Given the description of an element on the screen output the (x, y) to click on. 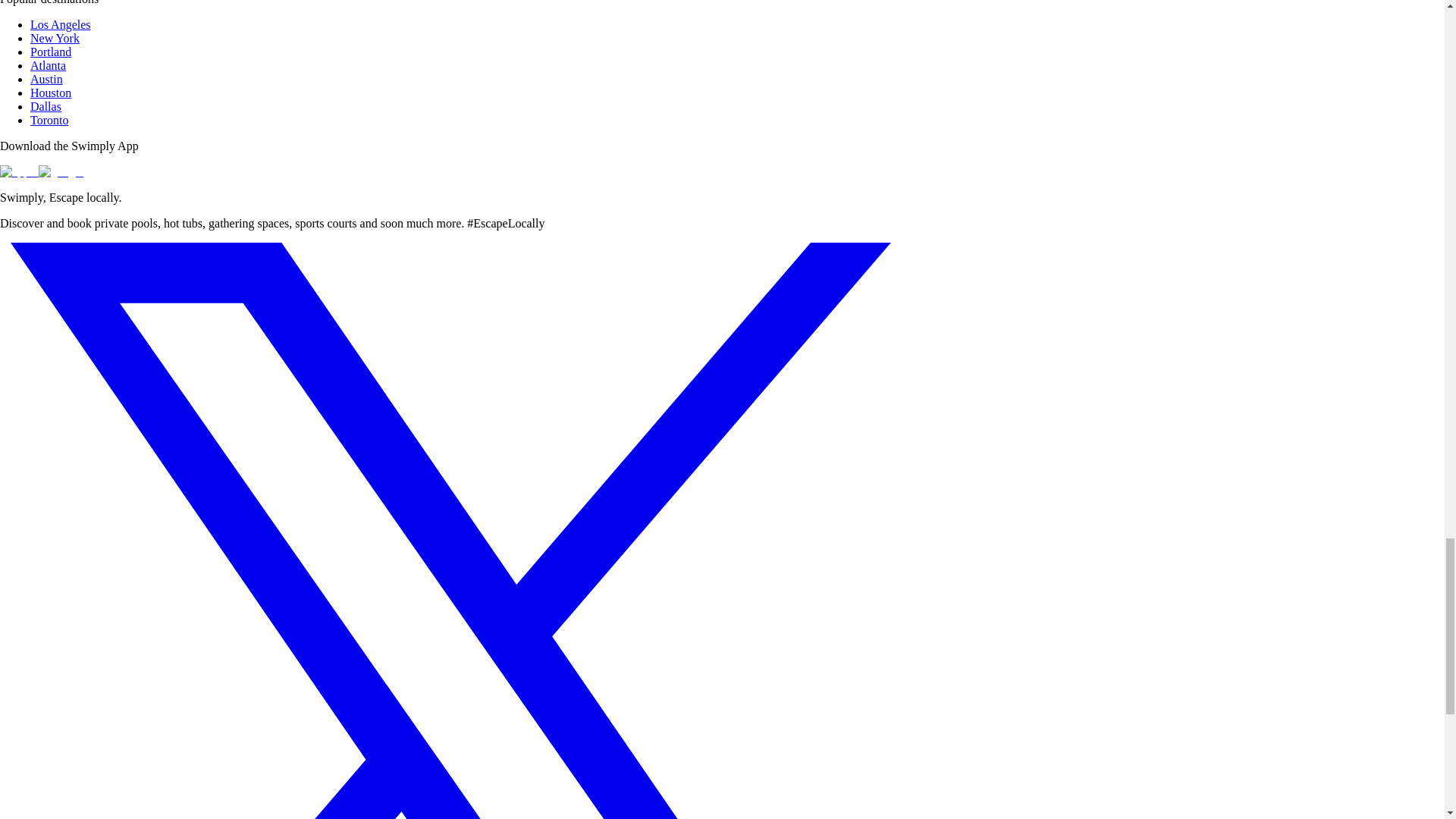
New York (55, 38)
Portland (50, 51)
Los Angeles (60, 24)
